Given the description of an element on the screen output the (x, y) to click on. 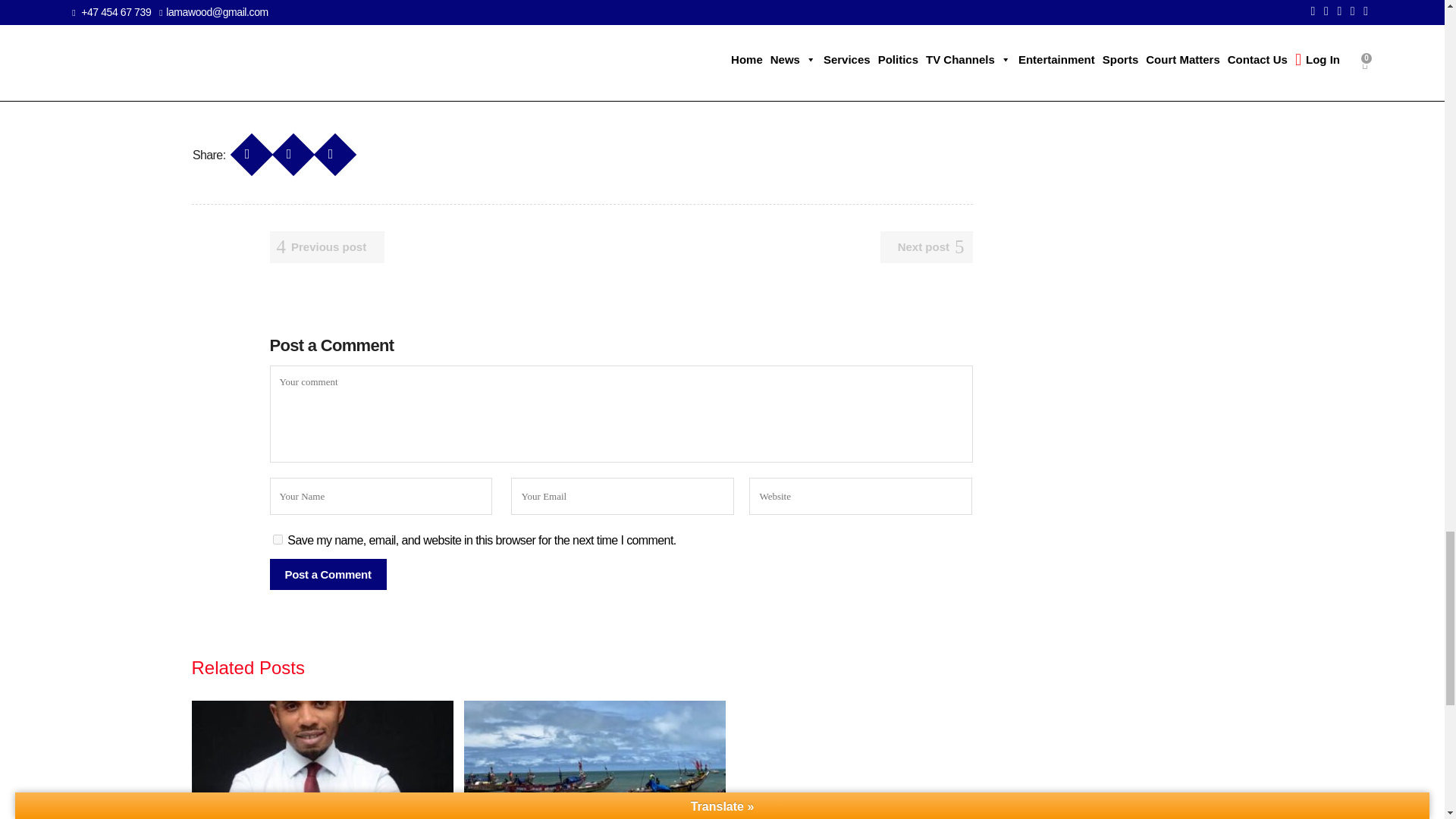
Share on Facebook (246, 147)
yes (277, 539)
Share on Twitter (288, 147)
Post a Comment (328, 573)
